Given the description of an element on the screen output the (x, y) to click on. 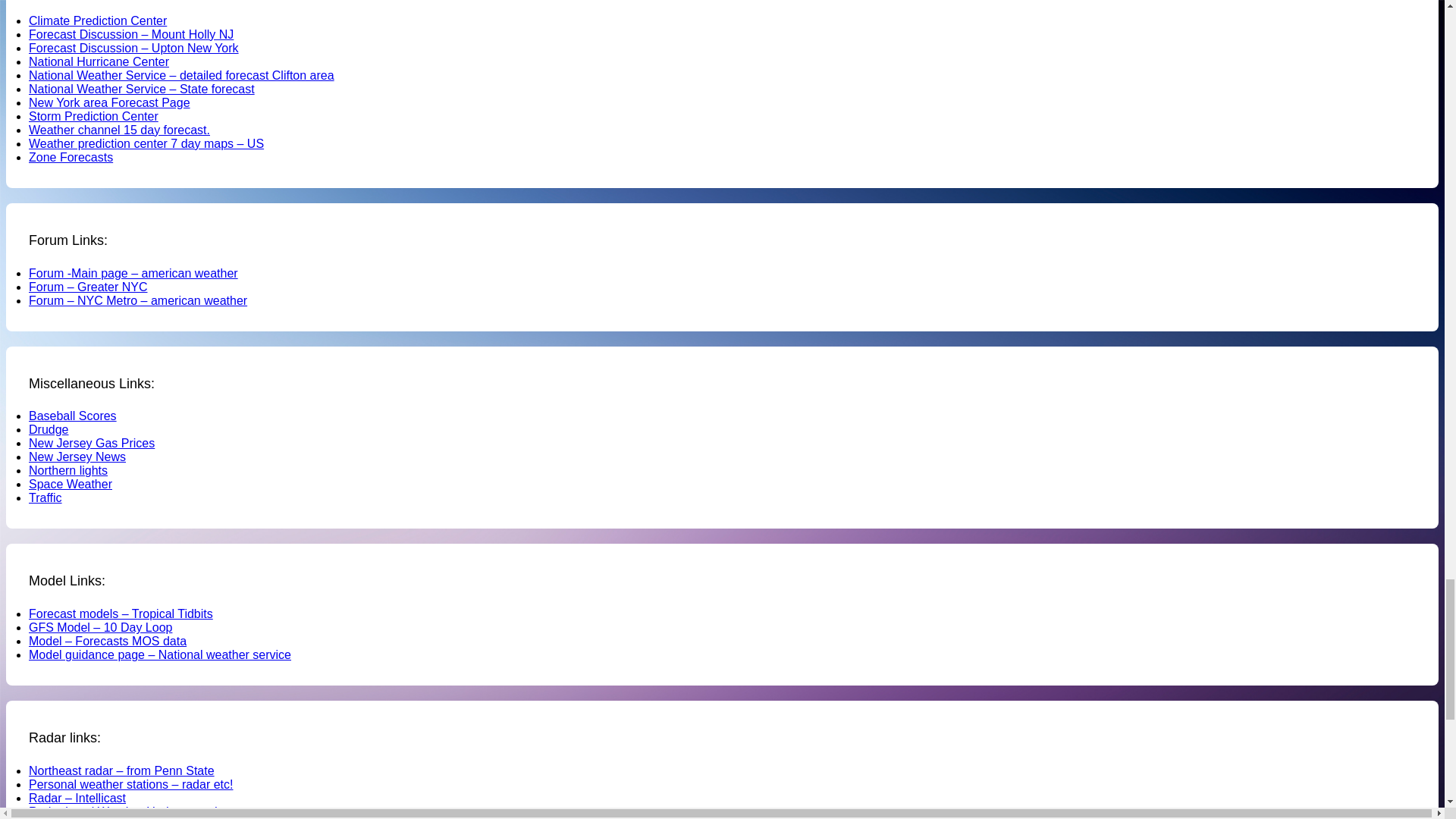
Great model site! (120, 613)
National Hurricane Center (98, 61)
Climate Prediction Center (98, 20)
